Given the description of an element on the screen output the (x, y) to click on. 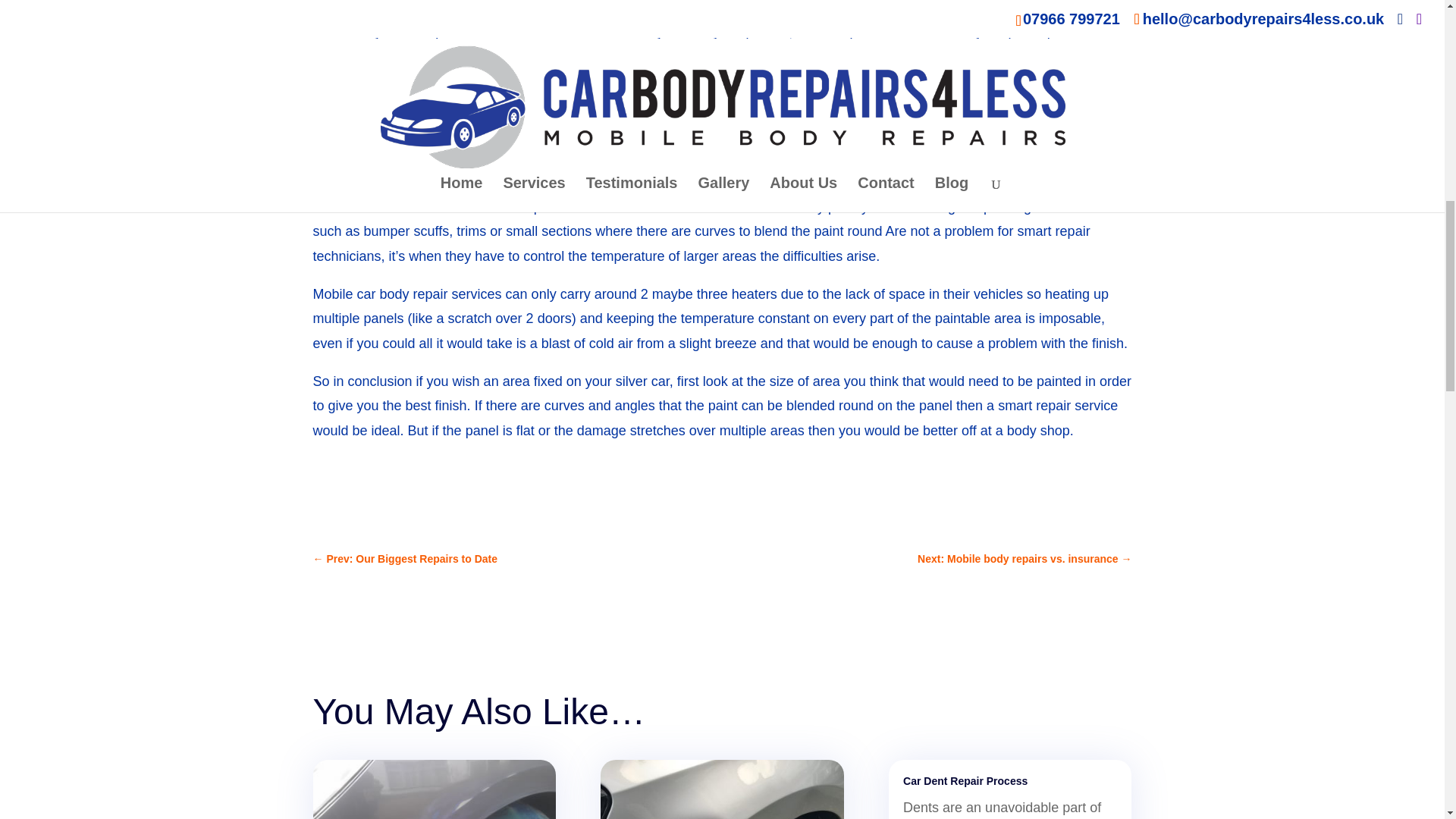
Car Dent Repair Process (964, 780)
